Given the description of an element on the screen output the (x, y) to click on. 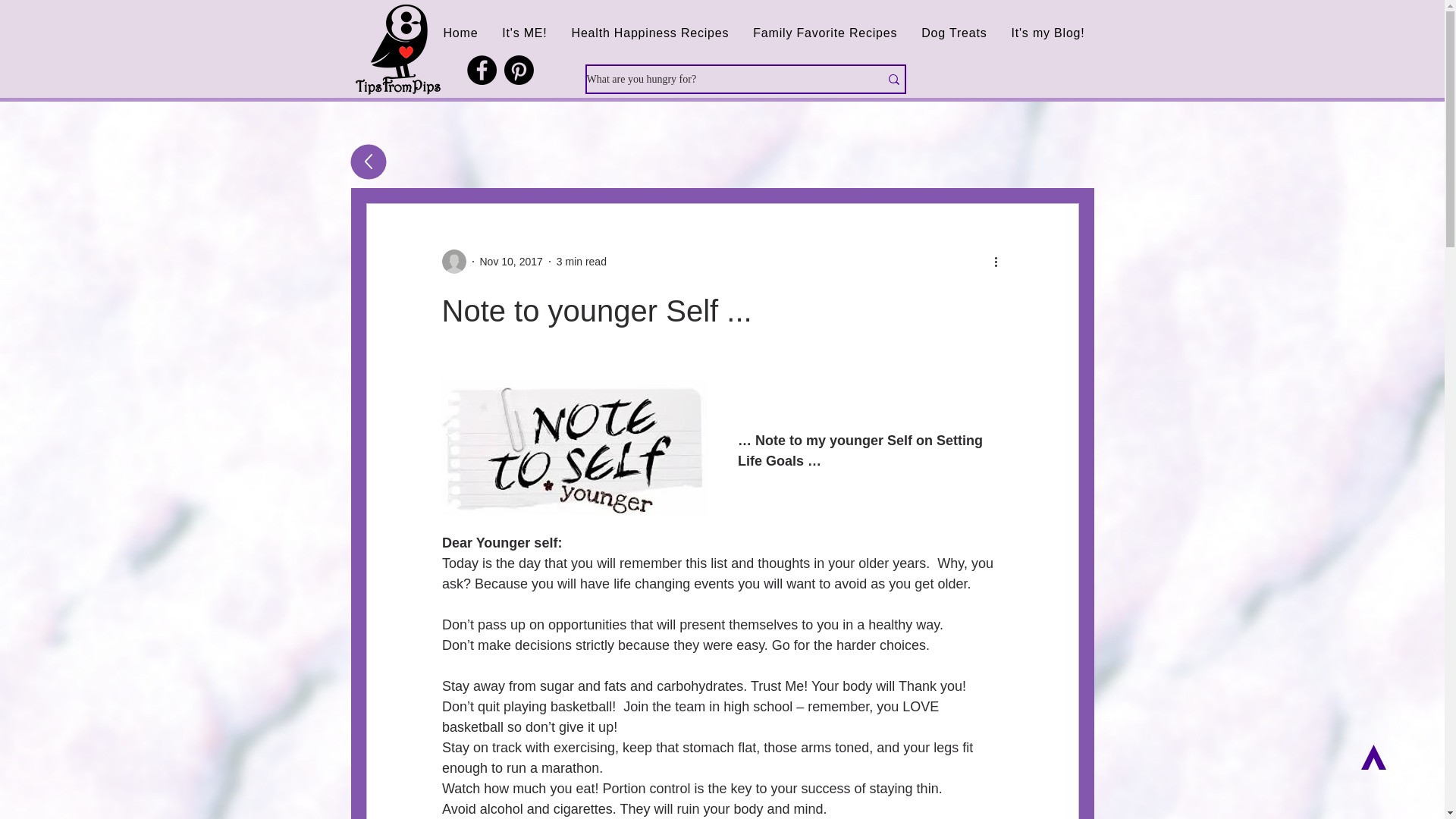
Nov 10, 2017 (510, 260)
It's my Blog! (1048, 32)
Dog Treats (953, 32)
Home (459, 32)
3 min read (581, 260)
It's ME! (524, 32)
